Given the description of an element on the screen output the (x, y) to click on. 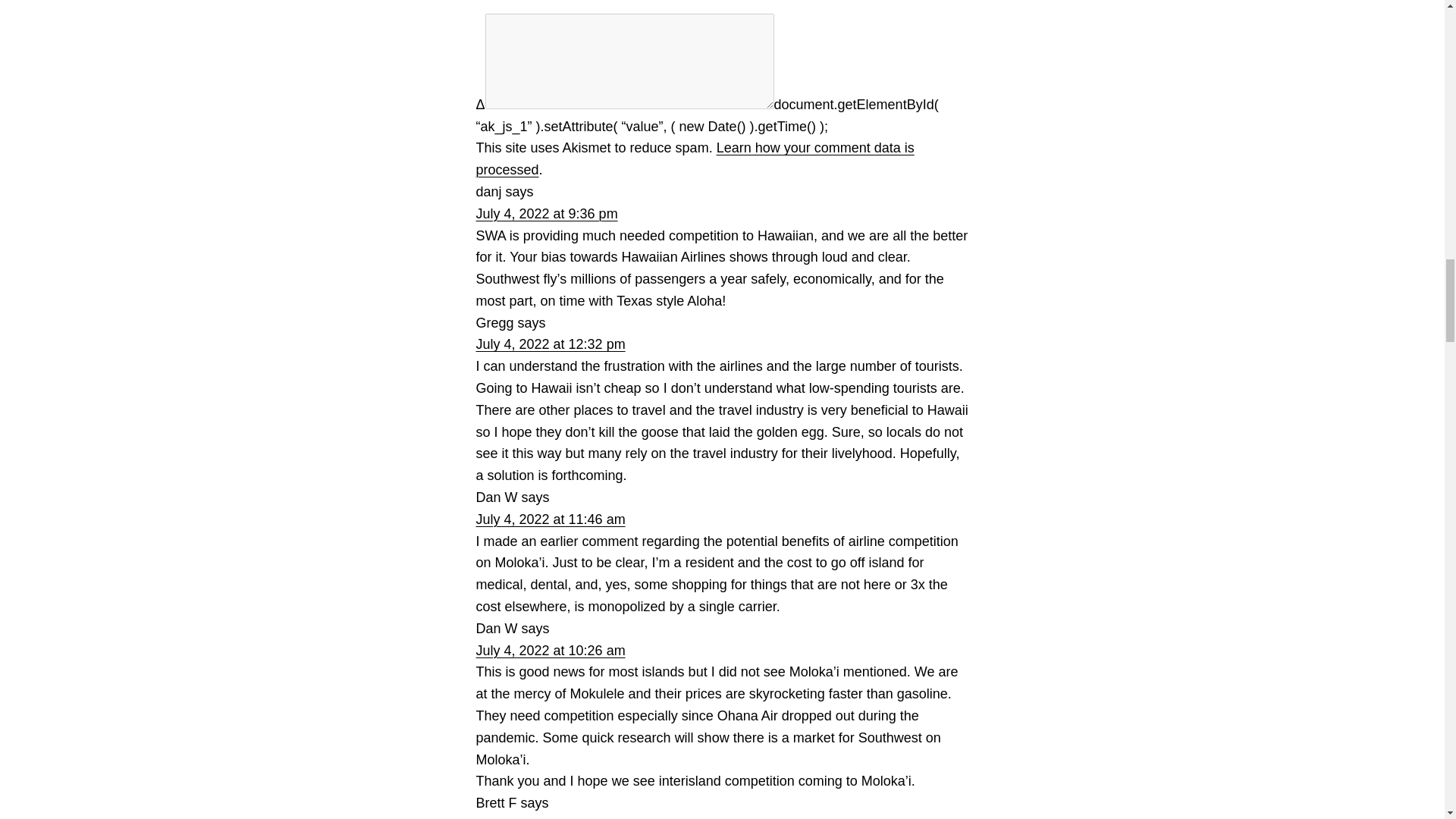
July 4, 2022 at 8:03 am (546, 818)
July 4, 2022 at 12:32 pm (551, 344)
July 4, 2022 at 9:36 pm (546, 213)
July 4, 2022 at 10:26 am (551, 650)
Learn how your comment data is processed (695, 158)
July 4, 2022 at 11:46 am (551, 519)
